Given the description of an element on the screen output the (x, y) to click on. 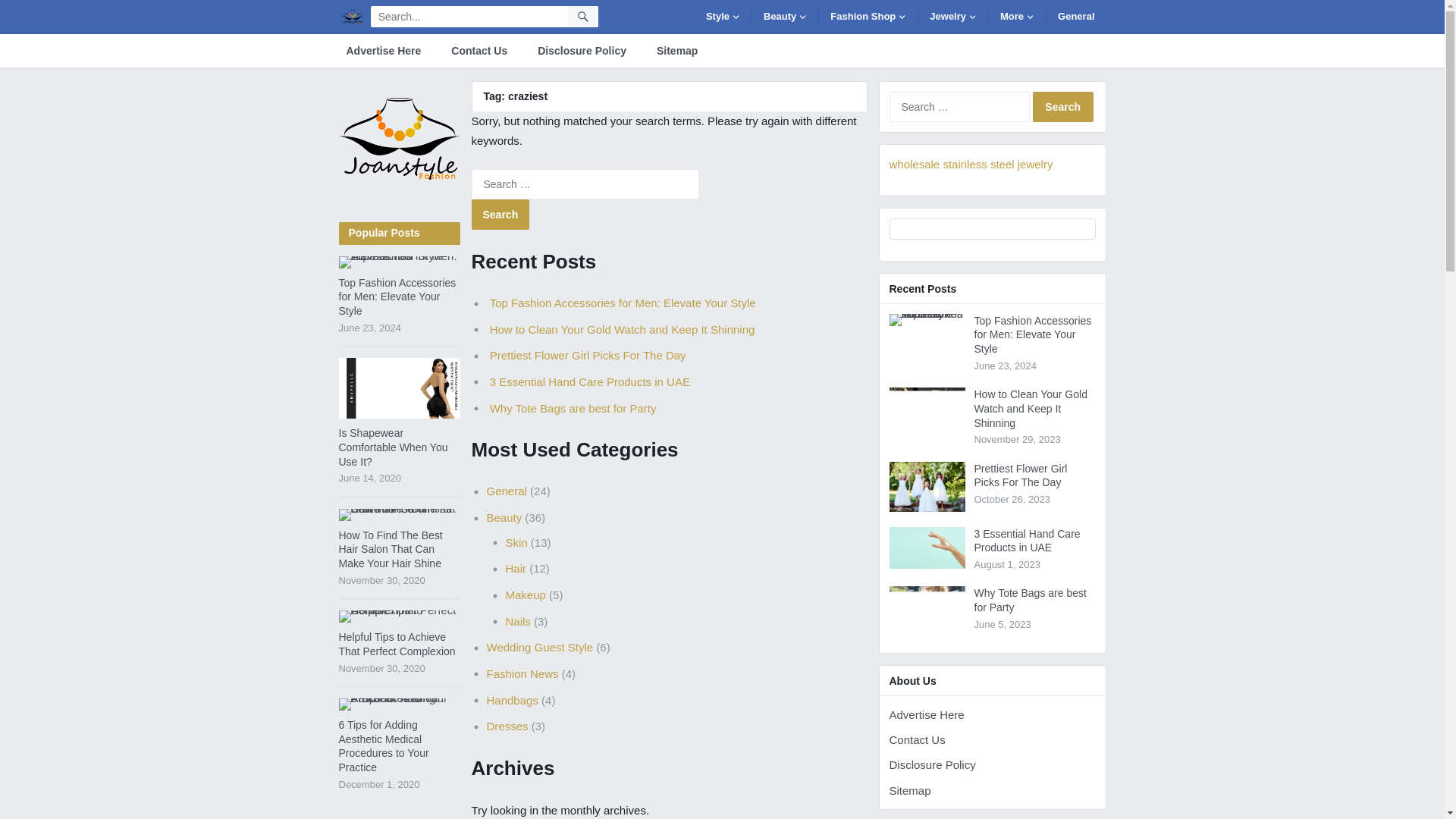
More (1017, 15)
Advertise Here (382, 50)
Why Tote Bags are best for Party (925, 614)
Search (500, 214)
Is Shapewear Comfortable When You Use It? (398, 387)
General (1075, 15)
Style (723, 15)
Top Fashion Accessories for Men: Elevate Your Style (925, 319)
Beauty (785, 15)
Top Fashion Accessories for Men: Elevate Your Style (398, 262)
Search (1062, 106)
Contact Us (479, 50)
How to Clean Your Gold Watch and Keep It Shinning (925, 407)
